Given the description of an element on the screen output the (x, y) to click on. 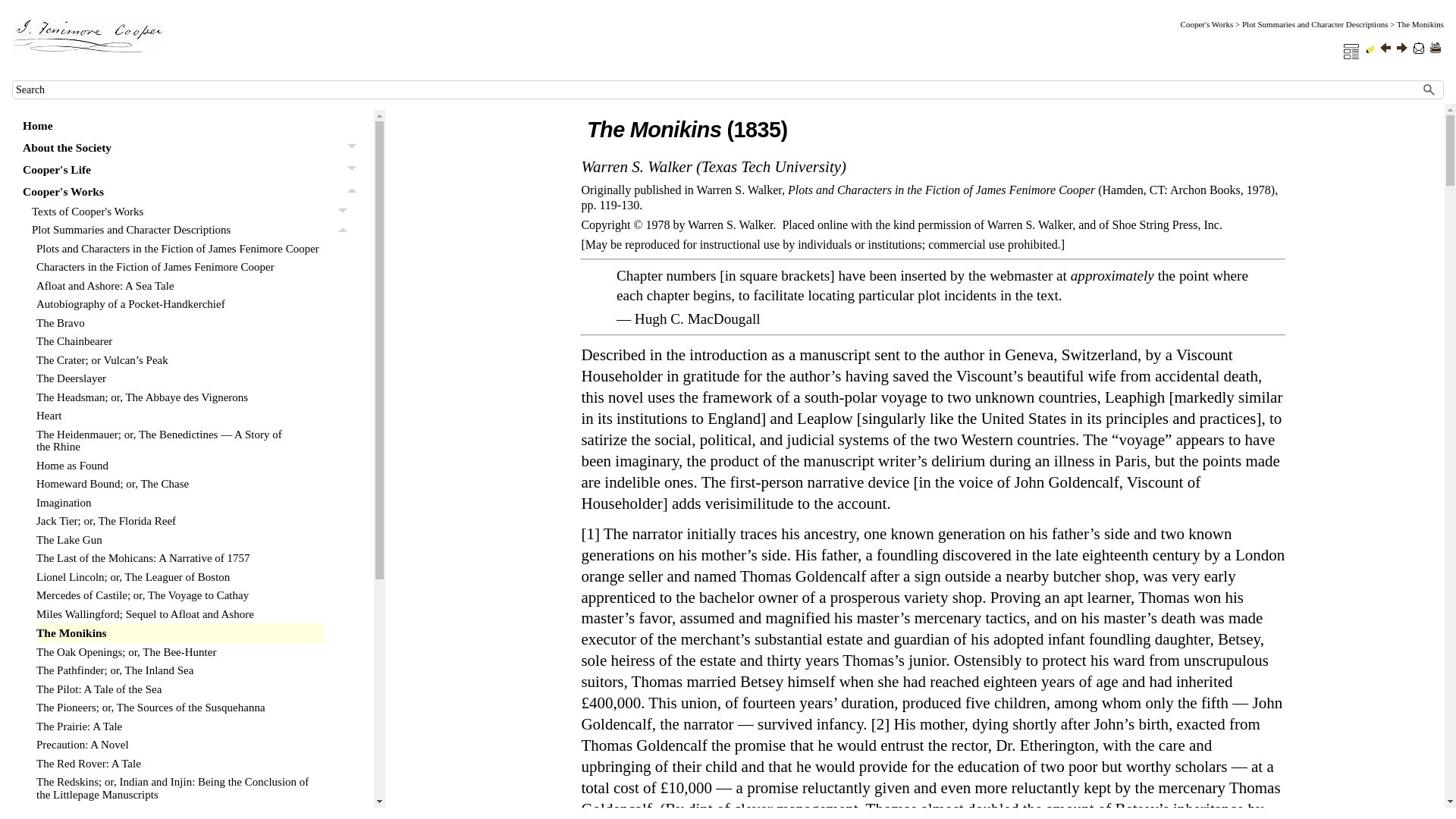
Send your feedback (1418, 48)
Remove search highlights (1370, 48)
Hide TOC (1350, 51)
Next page (1401, 47)
Search (1428, 89)
Previous page (1385, 47)
Print this page (1435, 47)
